Given the description of an element on the screen output the (x, y) to click on. 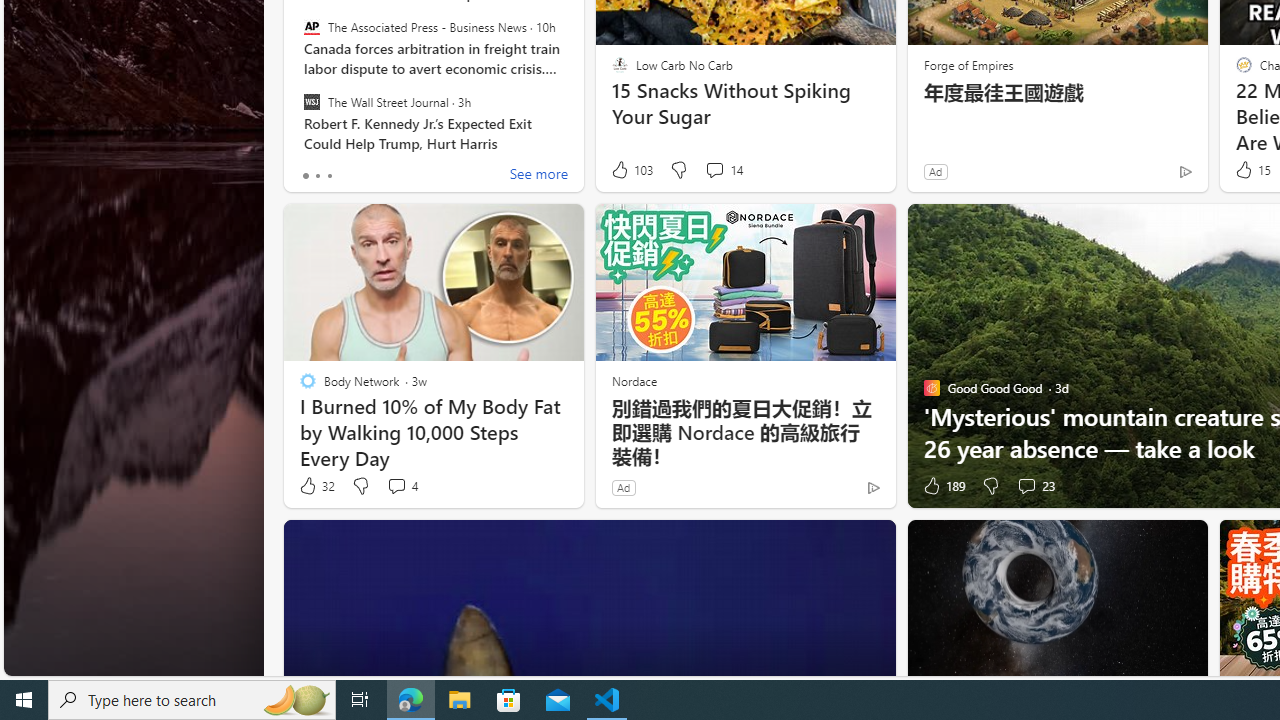
Visual Studio Code - 1 running window (607, 699)
View comments 4 Comment (401, 485)
Type here to search (191, 699)
View comments 14 Comment (714, 169)
Search highlights icon opens search home window (295, 699)
Forge of Empires (967, 64)
Microsoft Store (509, 699)
The Associated Press - Business News (311, 27)
103 Like (630, 170)
Start (24, 699)
tab-1 (317, 175)
